Given the description of an element on the screen output the (x, y) to click on. 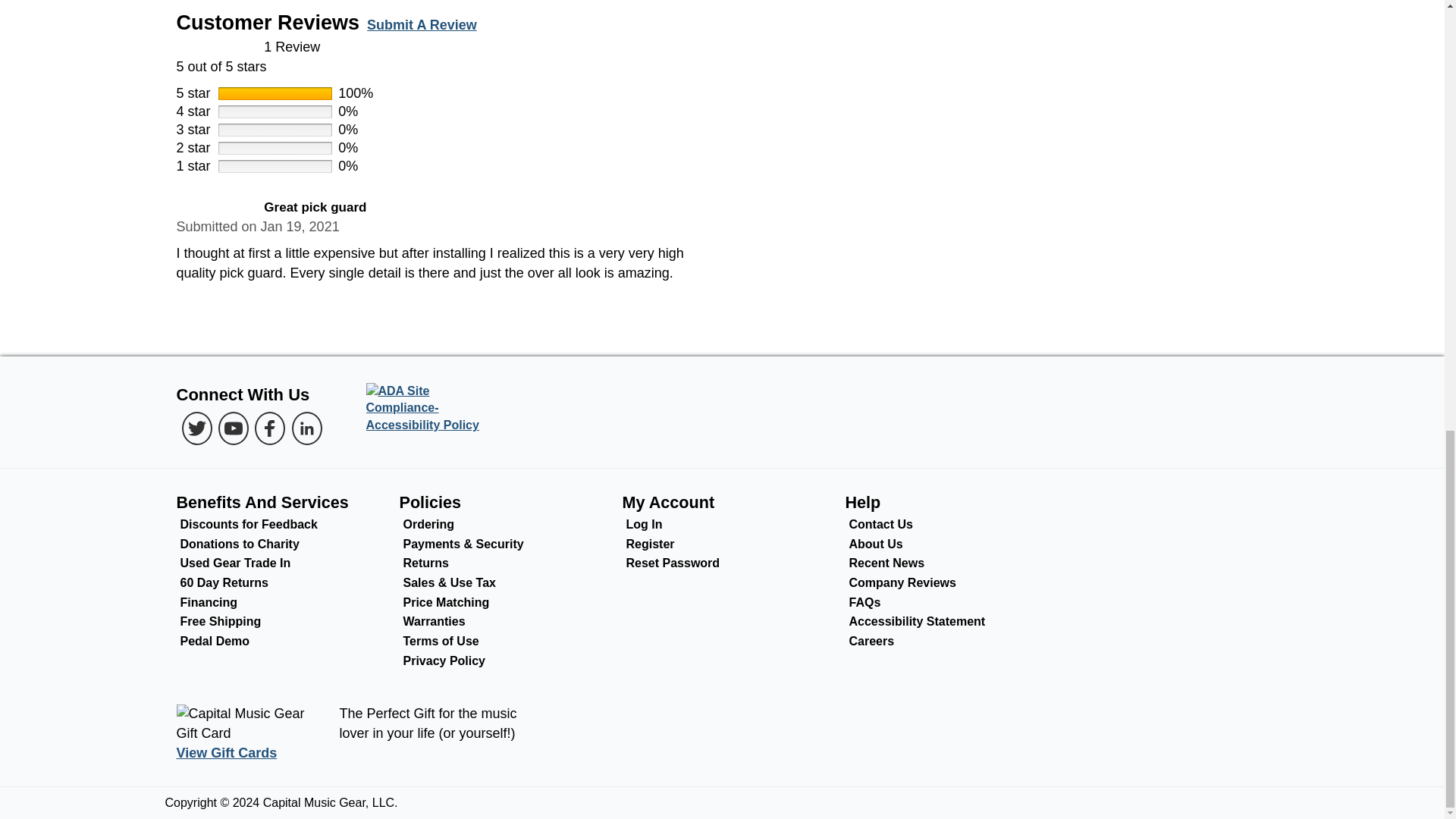
ADA Site Compliance-Accessibility Policy - Opens in new tab (427, 408)
5 out of 5 (722, 56)
Our Twitter Page - Opens in new Tab (197, 428)
Our Linkedin Page - Opens in new Tab (306, 428)
Our Youtube Page - Opens in new Tab (233, 428)
5 out of 5 (216, 207)
Our Facebook Page - Opens in new Tab (269, 428)
